Given the description of an element on the screen output the (x, y) to click on. 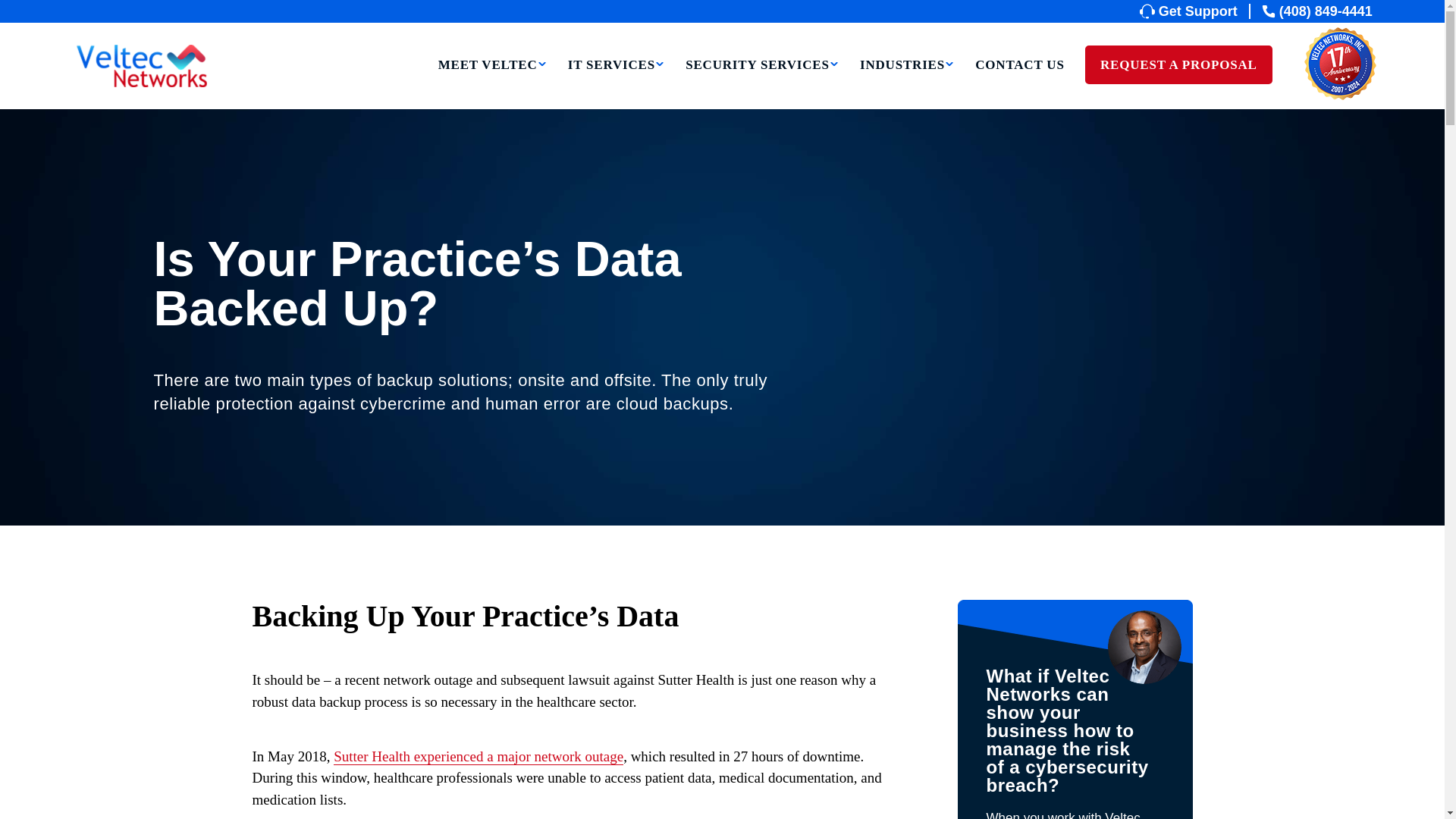
INDUSTRIES (907, 84)
Get Support (1195, 11)
MEET VELTEC (492, 84)
CONTACT US (1019, 84)
REQUEST A PROPOSAL (1178, 64)
Sutter Health experienced a major network outage (478, 756)
IT SERVICES (616, 84)
SECURITY SERVICES (762, 84)
